Given the description of an element on the screen output the (x, y) to click on. 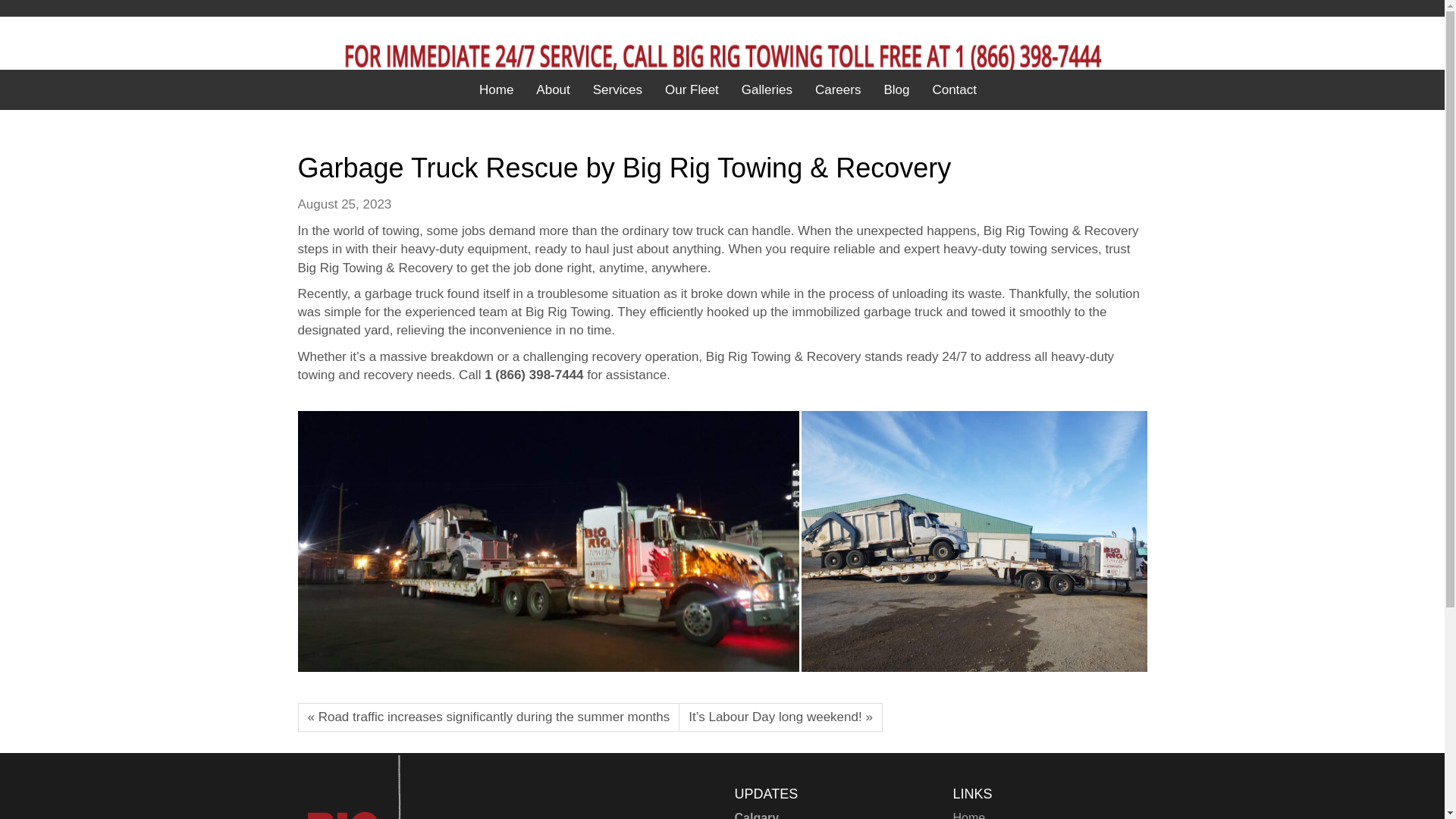
About (552, 90)
Our Fleet (691, 90)
Blog (896, 90)
Galleries (766, 90)
Contact (954, 90)
Home (495, 90)
Home (968, 815)
Careers (837, 90)
Services (616, 90)
